Given the description of an element on the screen output the (x, y) to click on. 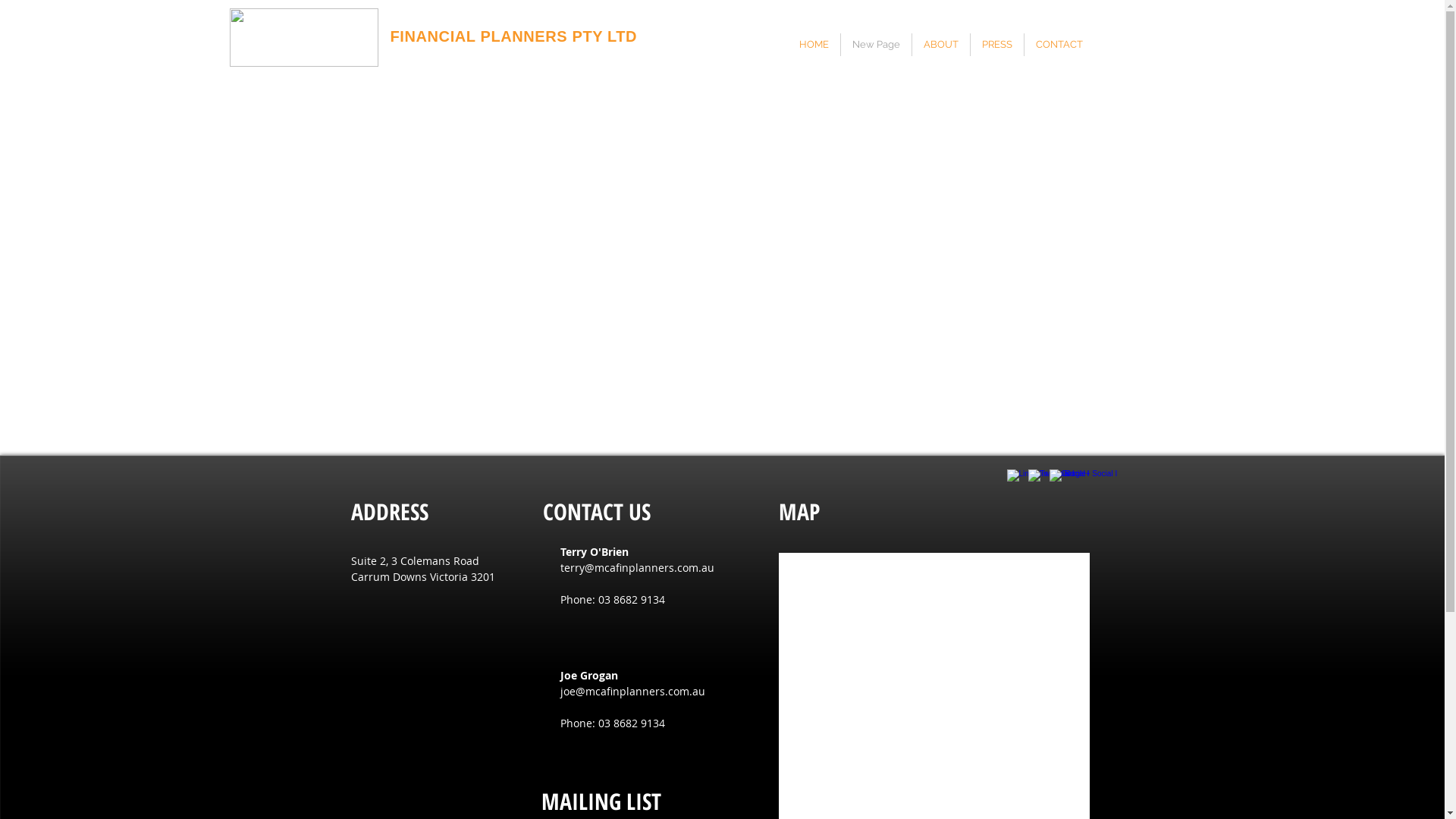
joe@mcafinplanners.com.au Element type: text (631, 691)
HOME Element type: text (813, 44)
ABOUT Element type: text (940, 44)
FINANCIAL Element type: text (432, 36)
MCA-logo1.jpg Element type: hover (303, 37)
PRESS Element type: text (996, 44)
CONTACT Element type: text (1058, 44)
Google Maps Element type: hover (934, 685)
New Page Element type: text (875, 44)
terry@mcafinplanners.com.au Element type: text (636, 567)
